Given the description of an element on the screen output the (x, y) to click on. 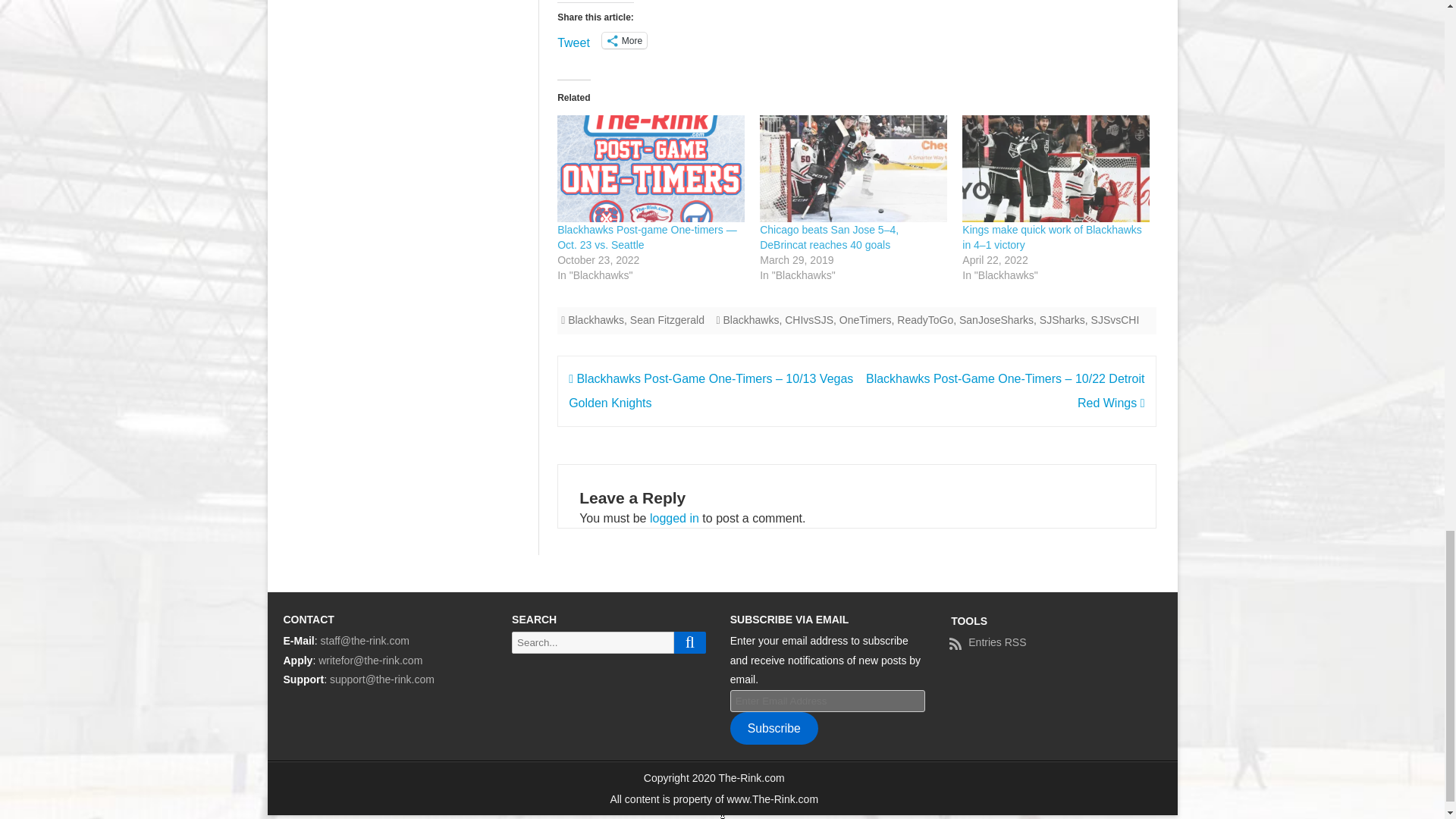
Search for: (593, 642)
